Given the description of an element on the screen output the (x, y) to click on. 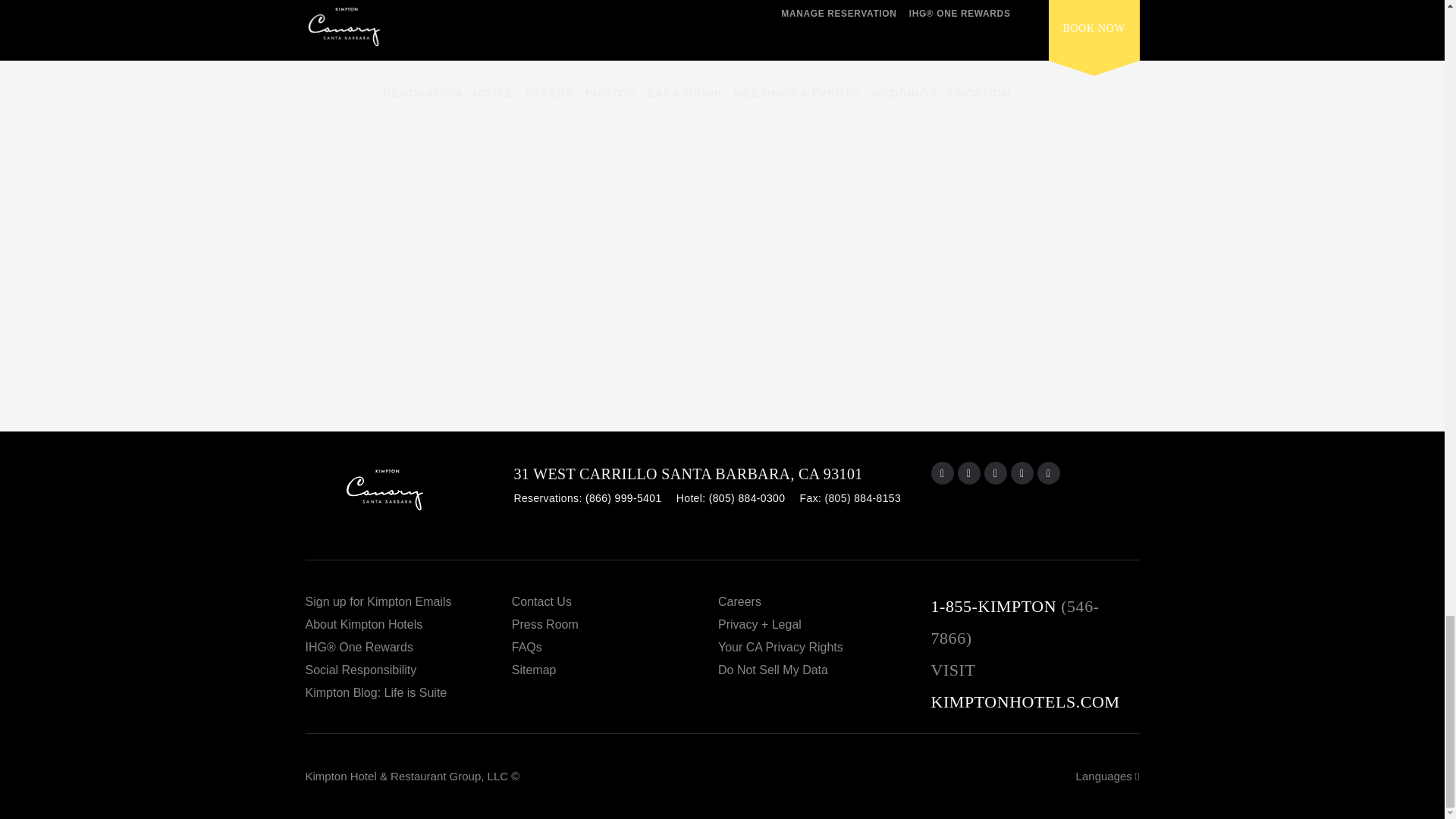
Kimpton Canary Hotel on Twitter (1047, 472)
Home (408, 495)
Kimpton Canary Hotel on Facebook (968, 472)
Kimpton Canary Hotel on Instagram (942, 472)
Translate this page (1107, 775)
Kimpton Canary Hotel on pinterest (1021, 472)
Kimpton Canary Hotel on youtube (995, 472)
